Given the description of an element on the screen output the (x, y) to click on. 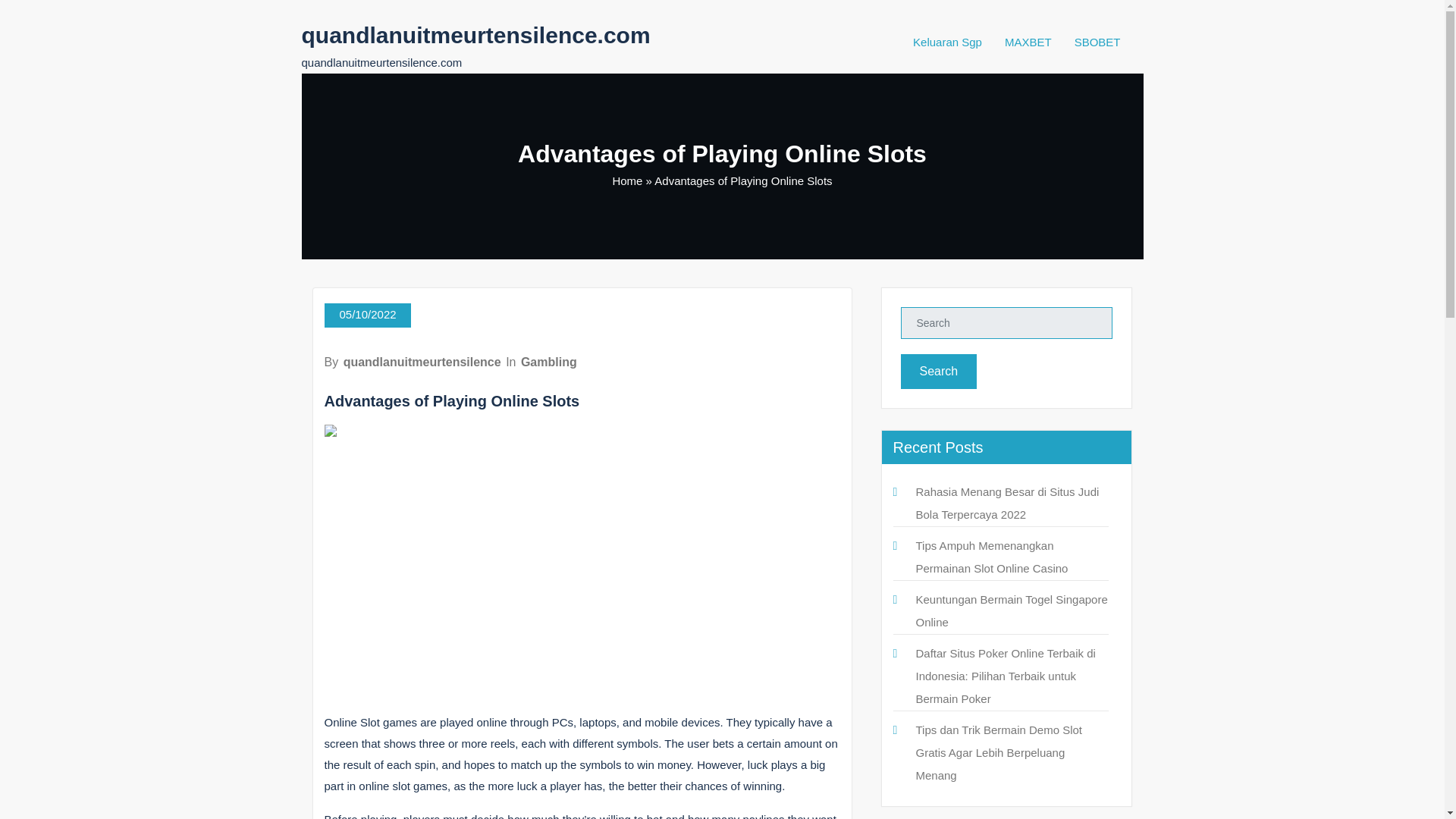
MAXBET (1027, 41)
Home (626, 180)
Keluaran Sgp (946, 41)
Keuntungan Bermain Togel Singapore Online (1011, 610)
Search (938, 371)
quandlanuitmeurtensilence (422, 361)
Gambling (548, 361)
Rahasia Menang Besar di Situs Judi Bola Terpercaya 2022 (1007, 502)
